Given the description of an element on the screen output the (x, y) to click on. 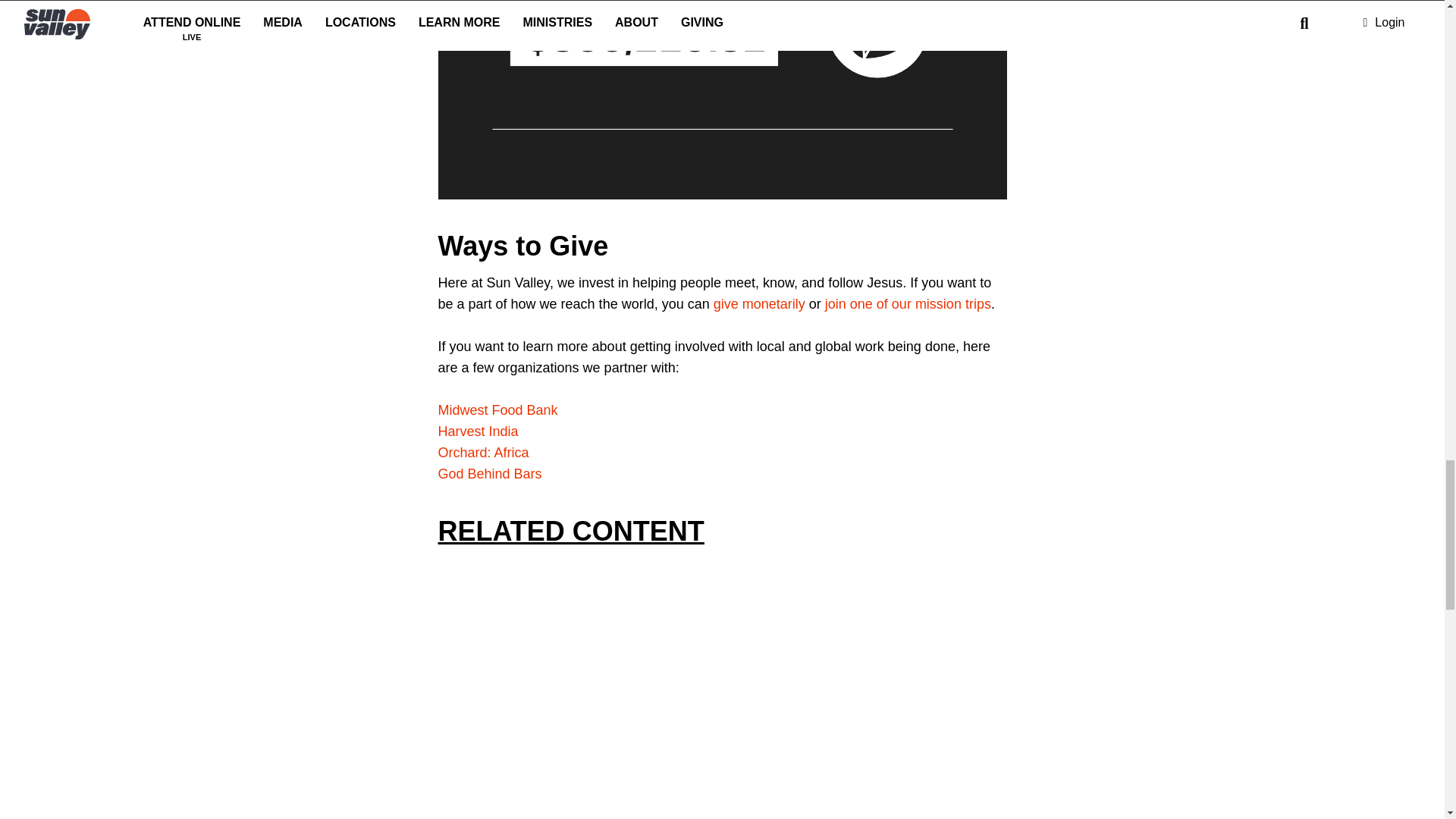
YouTube video player (650, 676)
